Given the description of an element on the screen output the (x, y) to click on. 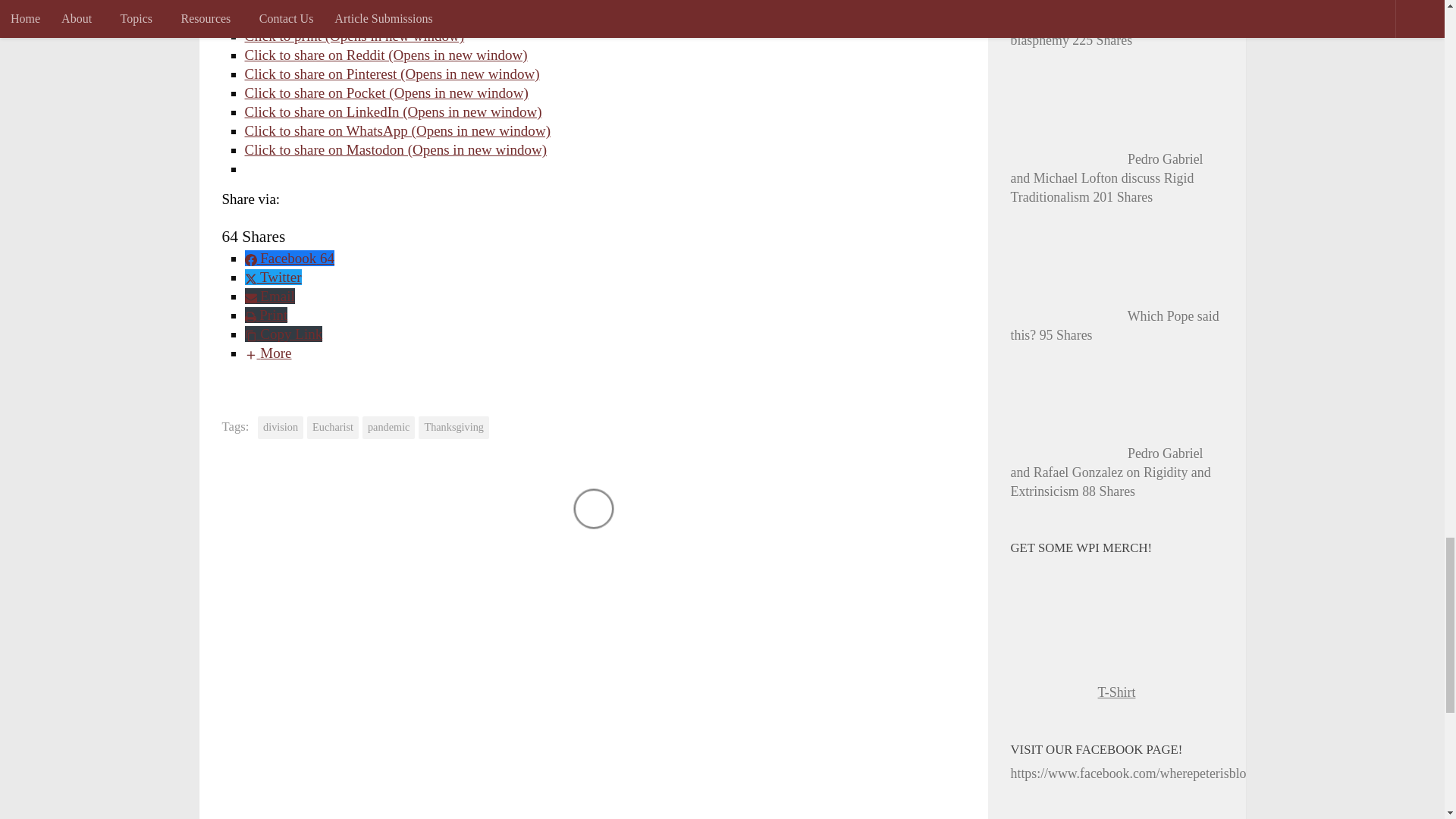
Click to share on Mastodon (395, 149)
Click to share on Pinterest (391, 73)
Click to print (354, 35)
Click to email a link to a friend (405, 17)
Click to share on Pocket (385, 92)
Click to share on Facebook (394, 2)
Click to share on LinkedIn (392, 111)
Click to share on Reddit (385, 54)
Click to share on WhatsApp (397, 130)
